Given the description of an element on the screen output the (x, y) to click on. 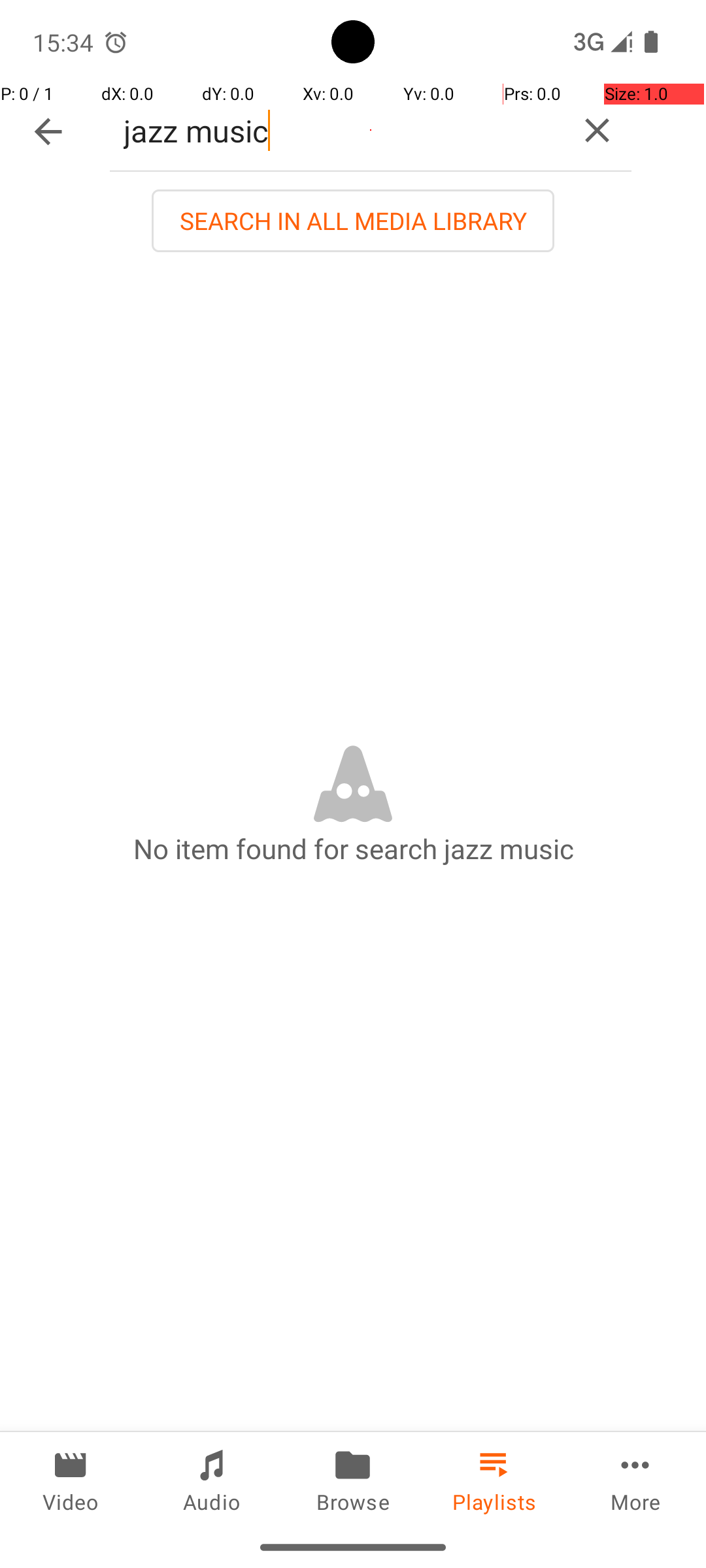
No item found for search jazz music Element type: android.widget.TextView (352, 847)
jazz music Element type: android.widget.AutoCompleteTextView (335, 130)
